Given the description of an element on the screen output the (x, y) to click on. 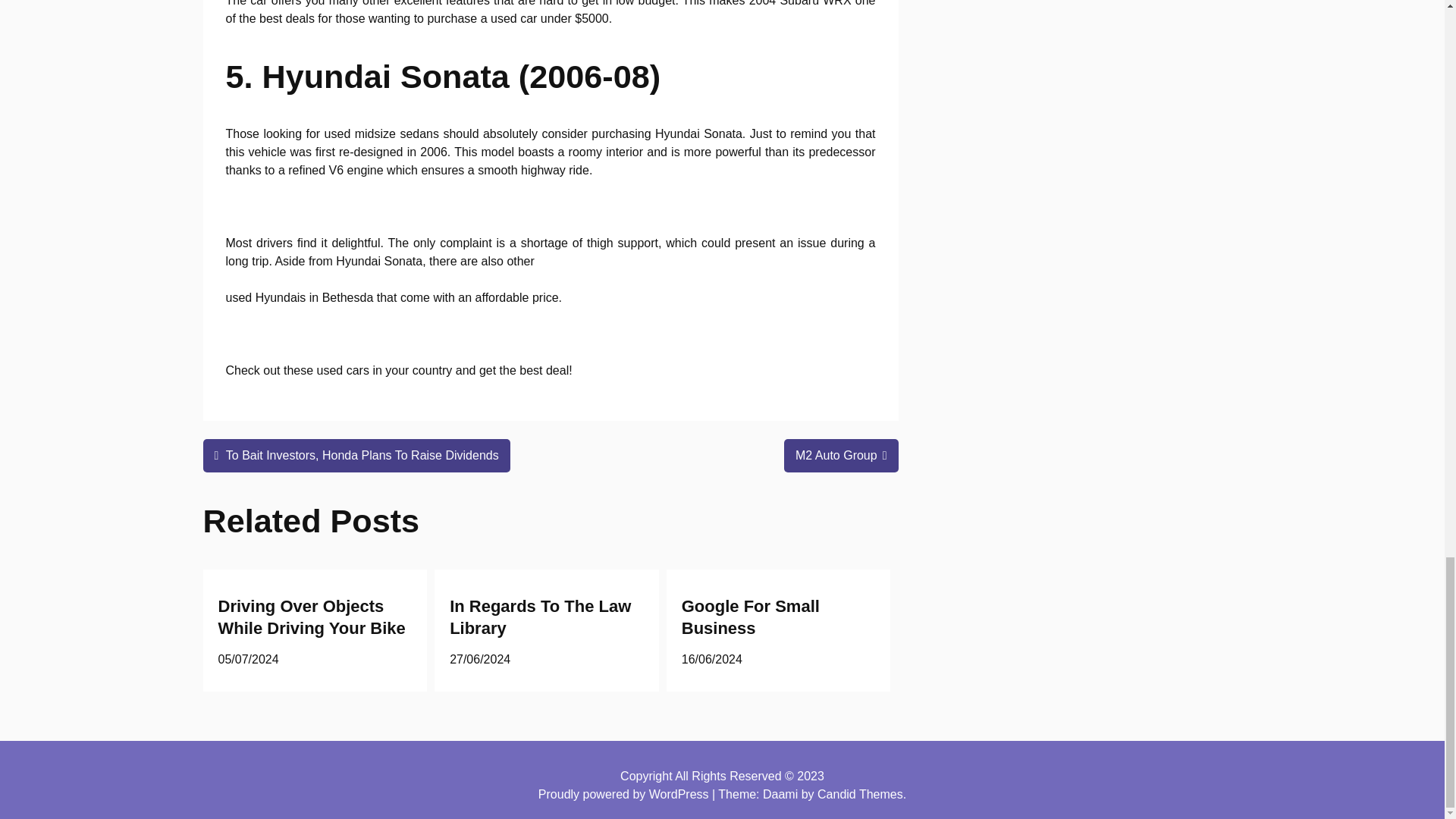
To Bait Investors, Honda Plans To Raise Dividends (357, 455)
Google For Small Business (750, 617)
M2 Auto Group (841, 455)
Driving Over Objects While Driving Your Bike (312, 617)
In Regards To The Law Library (539, 617)
